Given the description of an element on the screen output the (x, y) to click on. 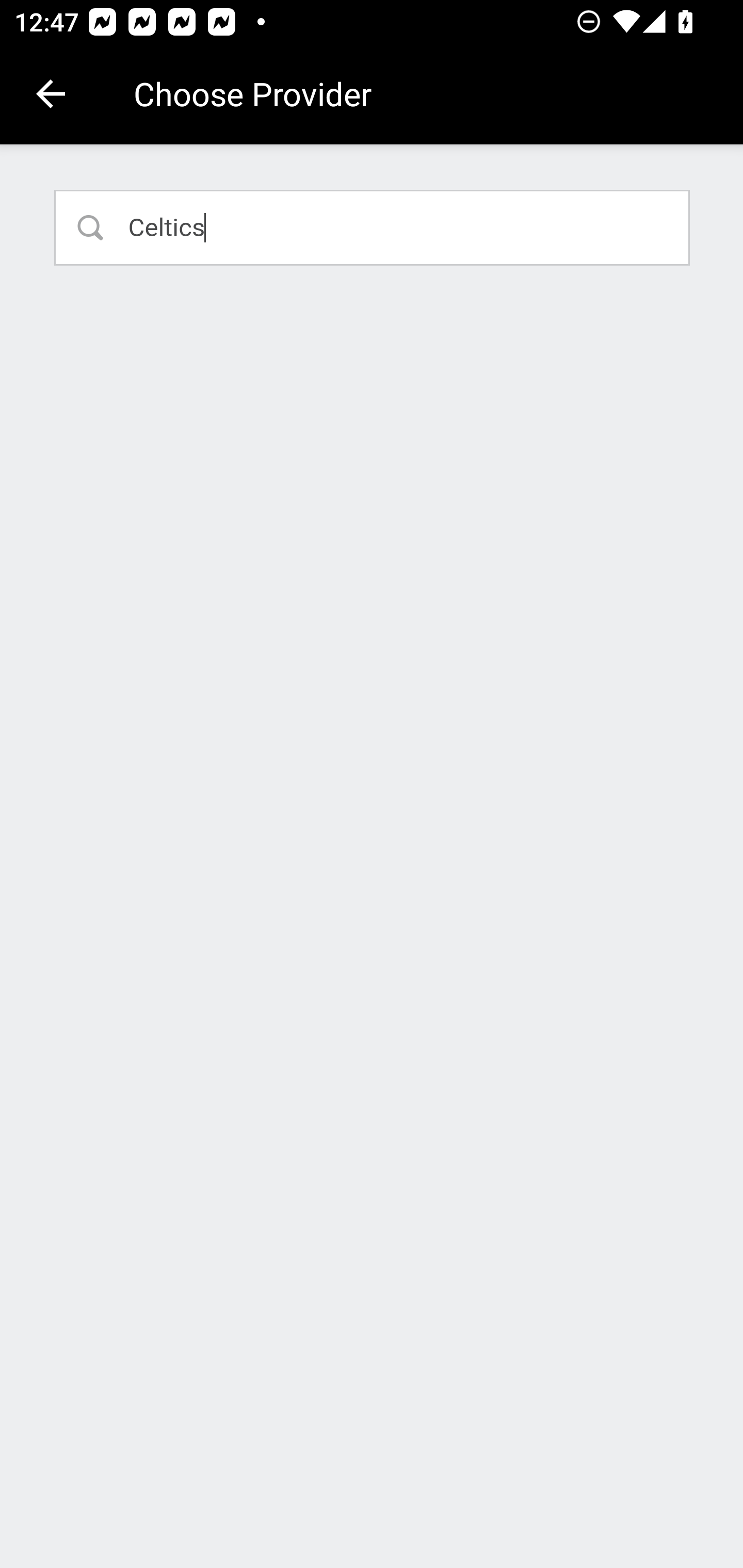
Navigate up (50, 93)
Celtics (372, 227)
